Given the description of an element on the screen output the (x, y) to click on. 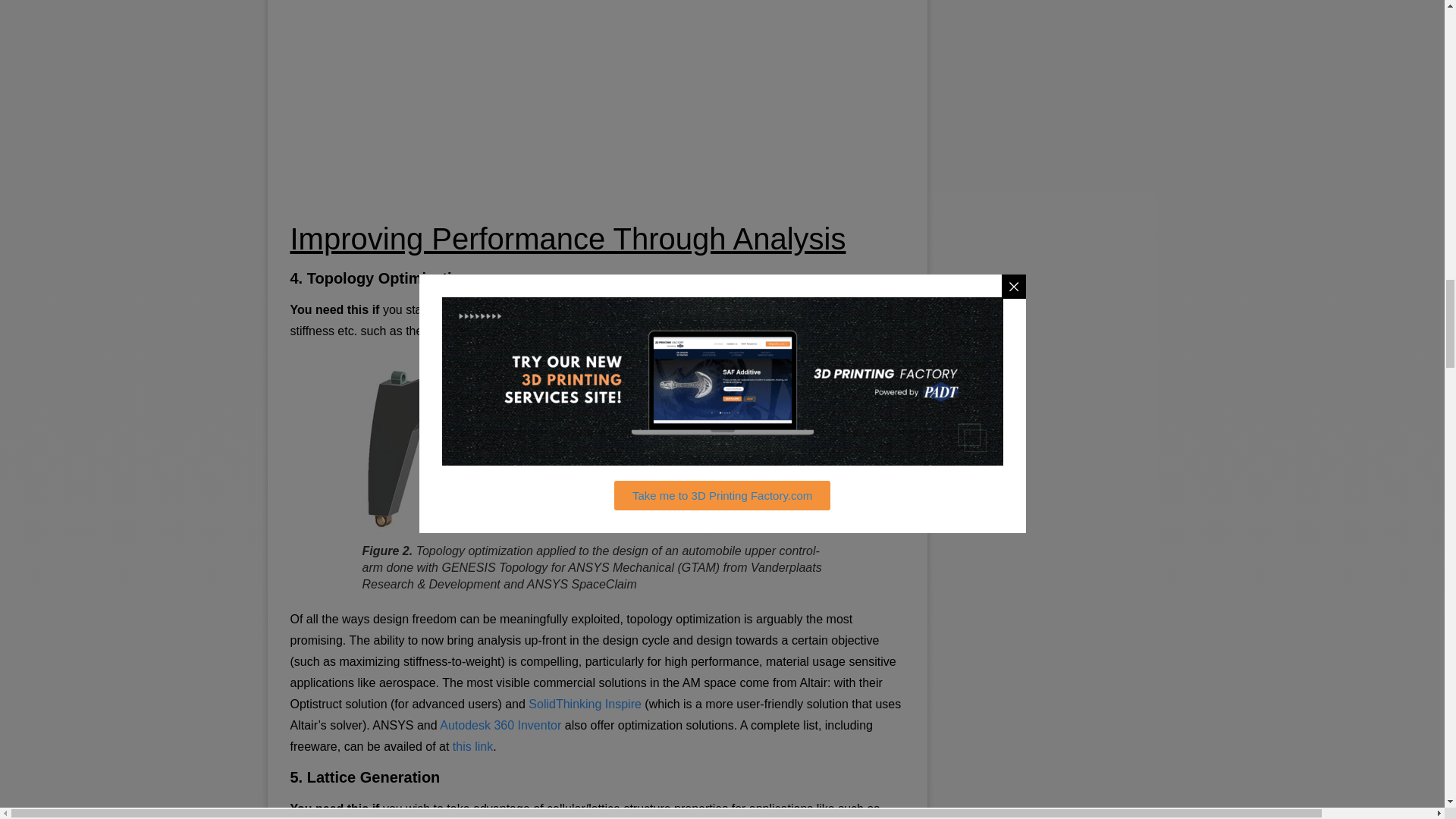
The Additive Manufacturing Software Conundrum 2 (597, 447)
